Given the description of an element on the screen output the (x, y) to click on. 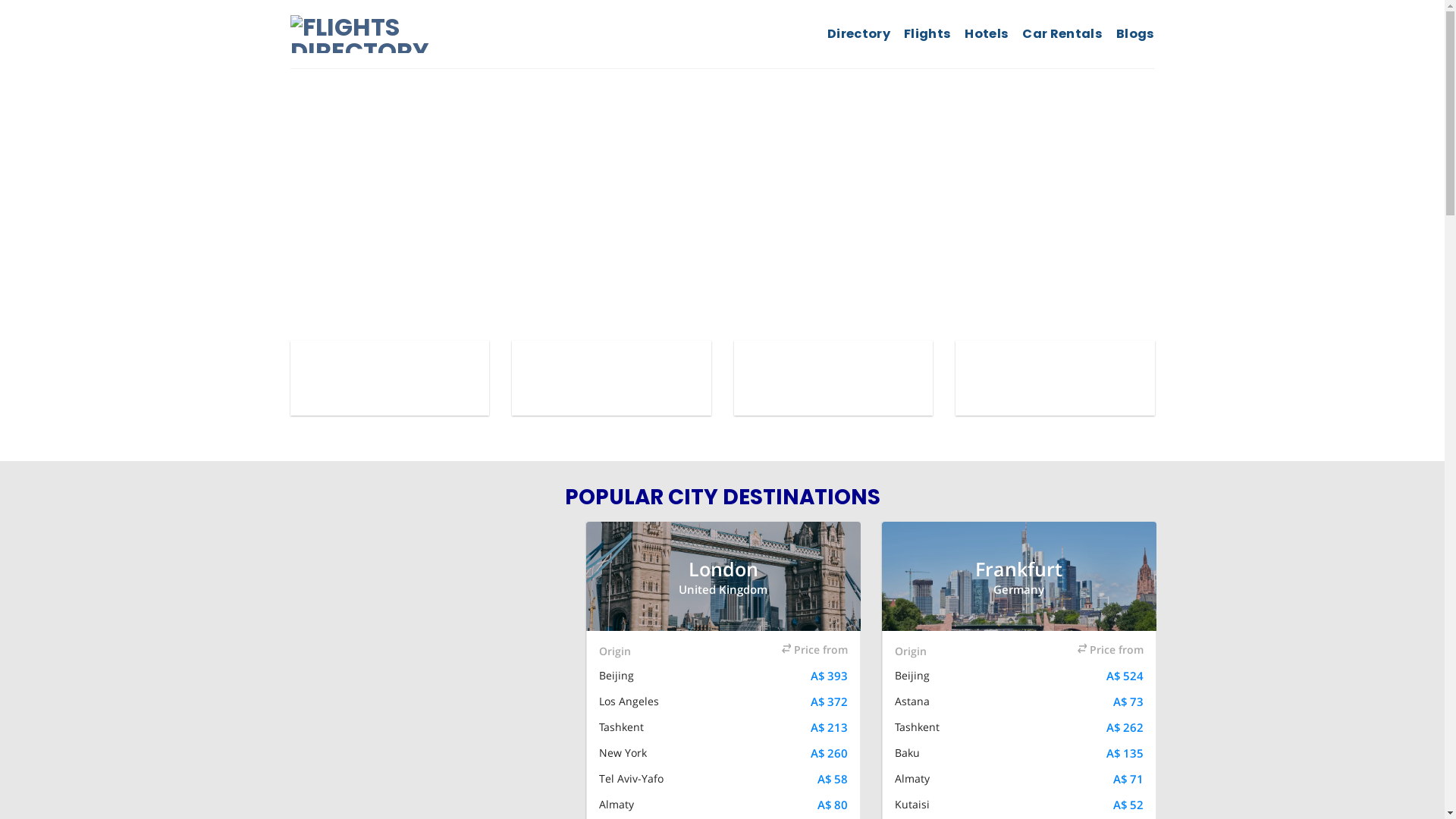
Directory Element type: text (858, 33)
Flights Element type: text (926, 33)
Blogs Element type: text (1135, 33)
Flights Directory Element type: hover (401, 34)
Hotels Element type: text (986, 33)
Car Rentals Element type: text (1062, 33)
